Given the description of an element on the screen output the (x, y) to click on. 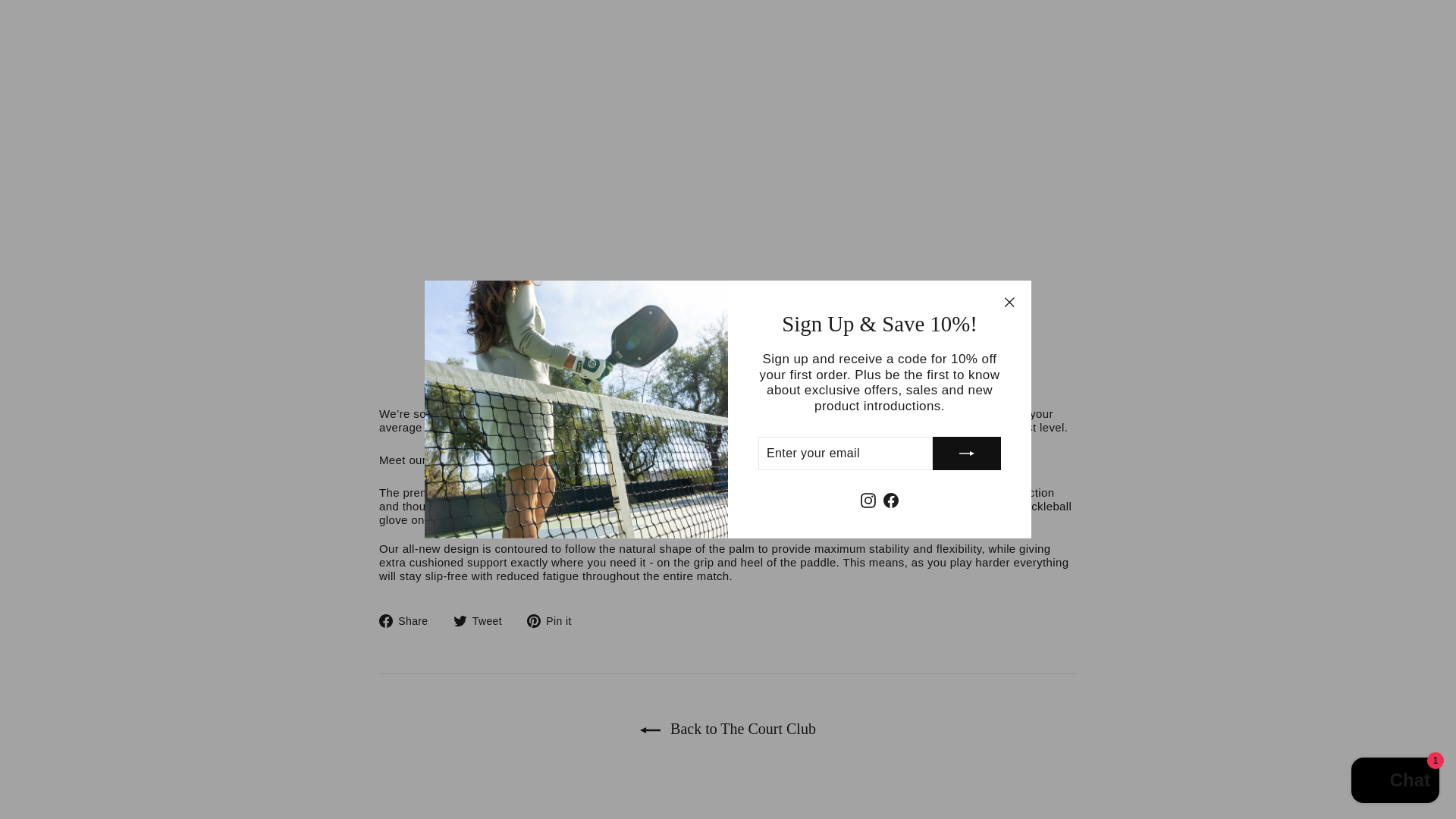
icon-left-arrow (650, 729)
twitter (459, 621)
twitter (482, 621)
icon-left-arrow Back to The Court Club (727, 728)
Tweet on Twitter (482, 621)
